Given the description of an element on the screen output the (x, y) to click on. 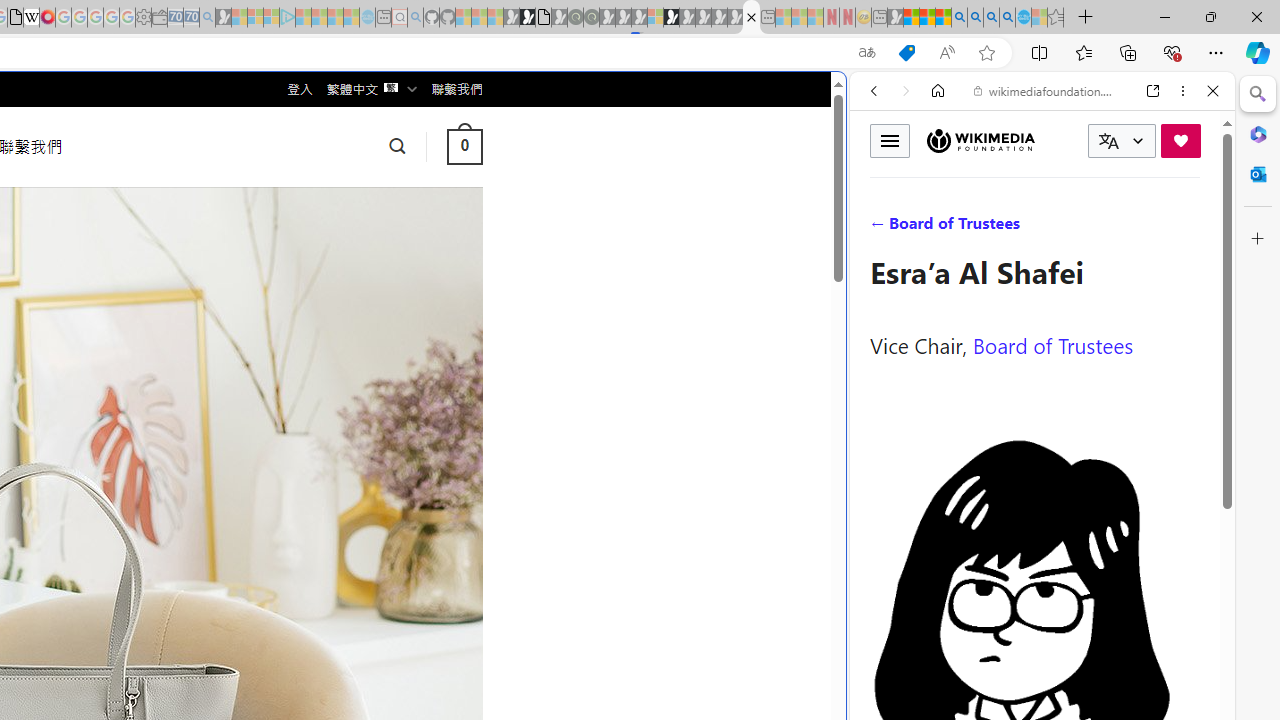
New tab - Sleeping (879, 17)
Home | Sky Blue Bikes - Sky Blue Bikes - Sleeping (367, 17)
Sign in to your account - Sleeping (655, 17)
